Given the description of an element on the screen output the (x, y) to click on. 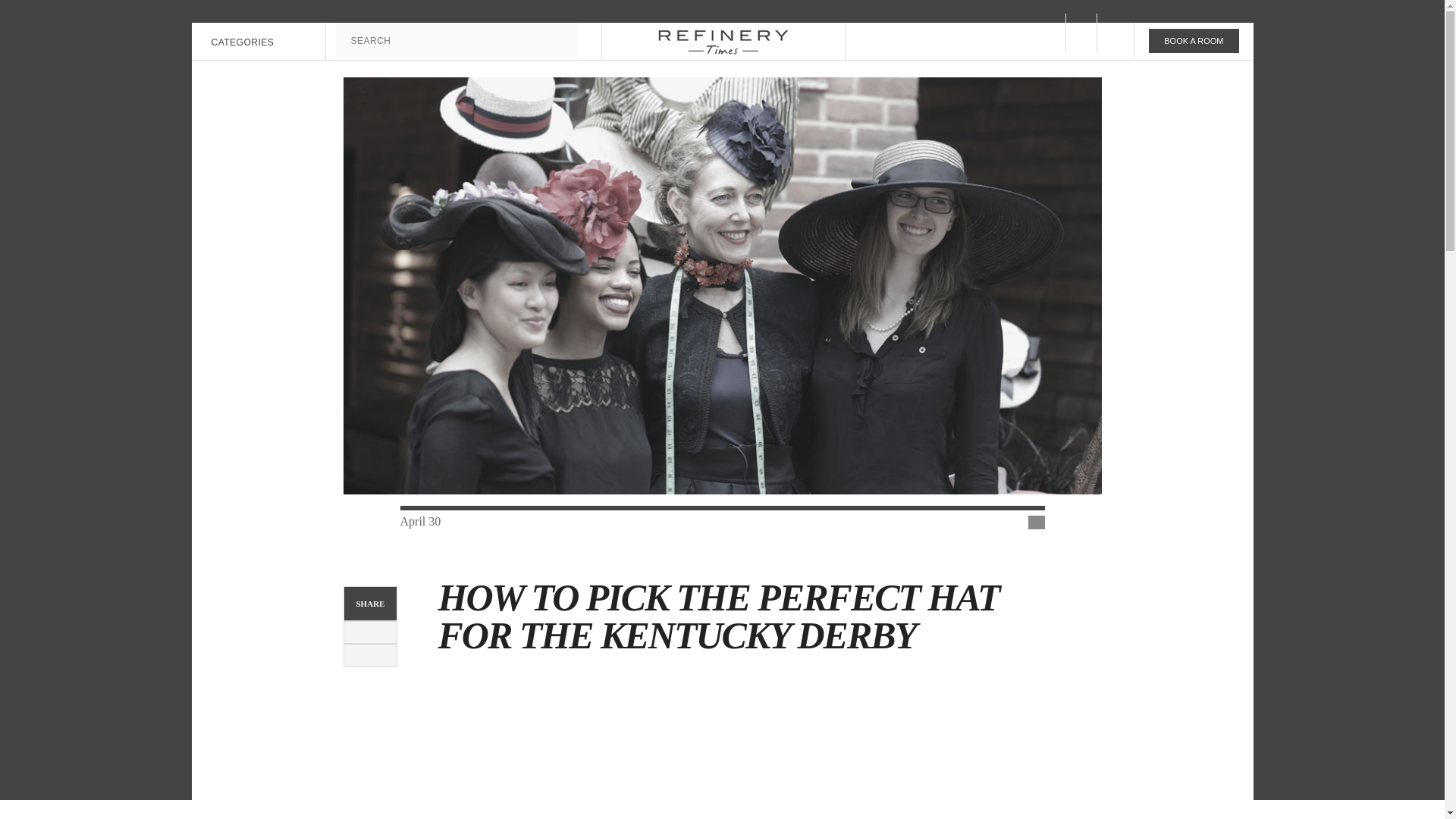
BOOK A ROOM (1193, 40)
Refinery Times, New York, New York (721, 40)
CATEGORIES (239, 42)
